Given the description of an element on the screen output the (x, y) to click on. 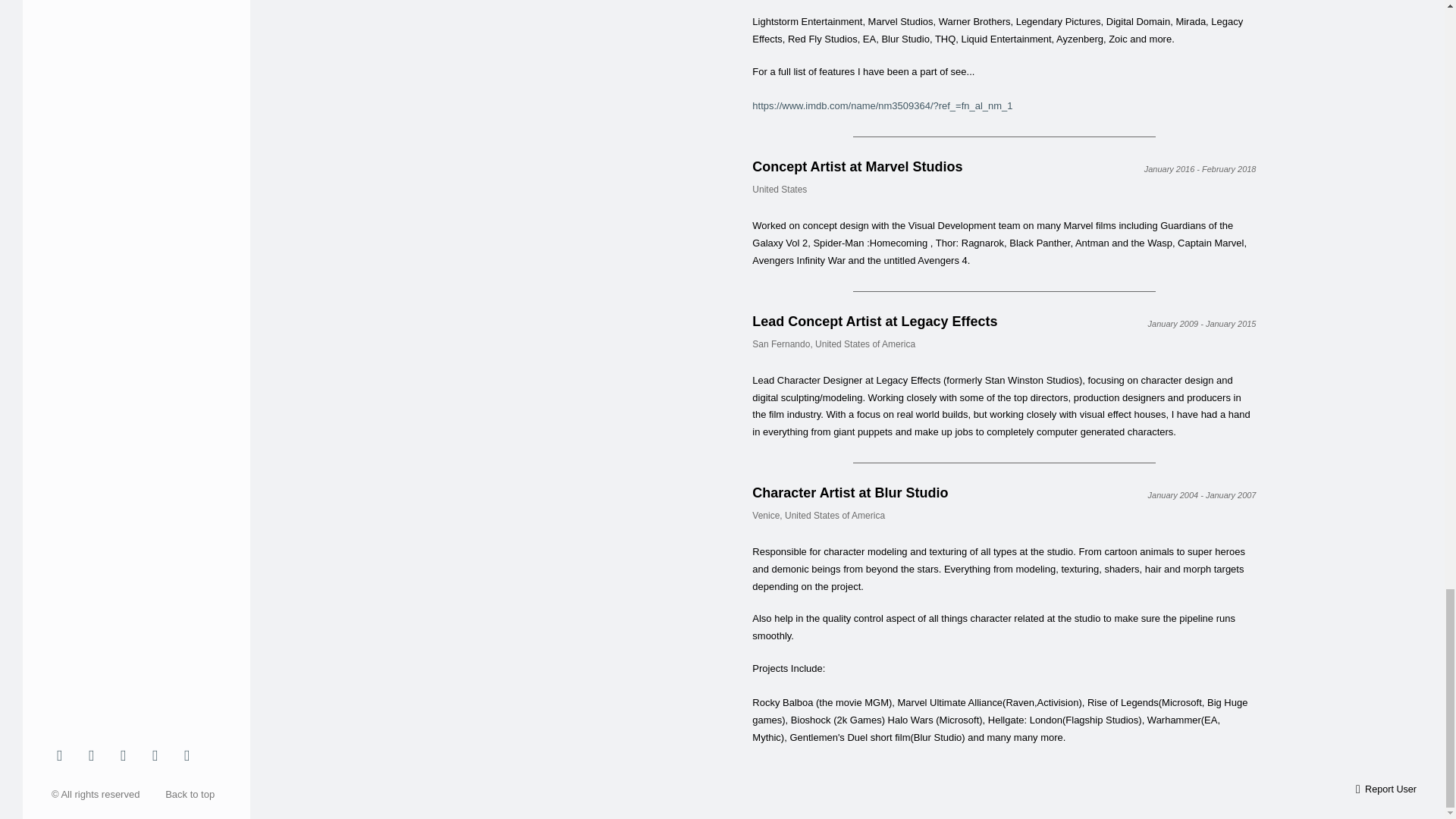
Back to top (193, 794)
Back to top (193, 794)
Report User (1385, 789)
